Given the description of an element on the screen output the (x, y) to click on. 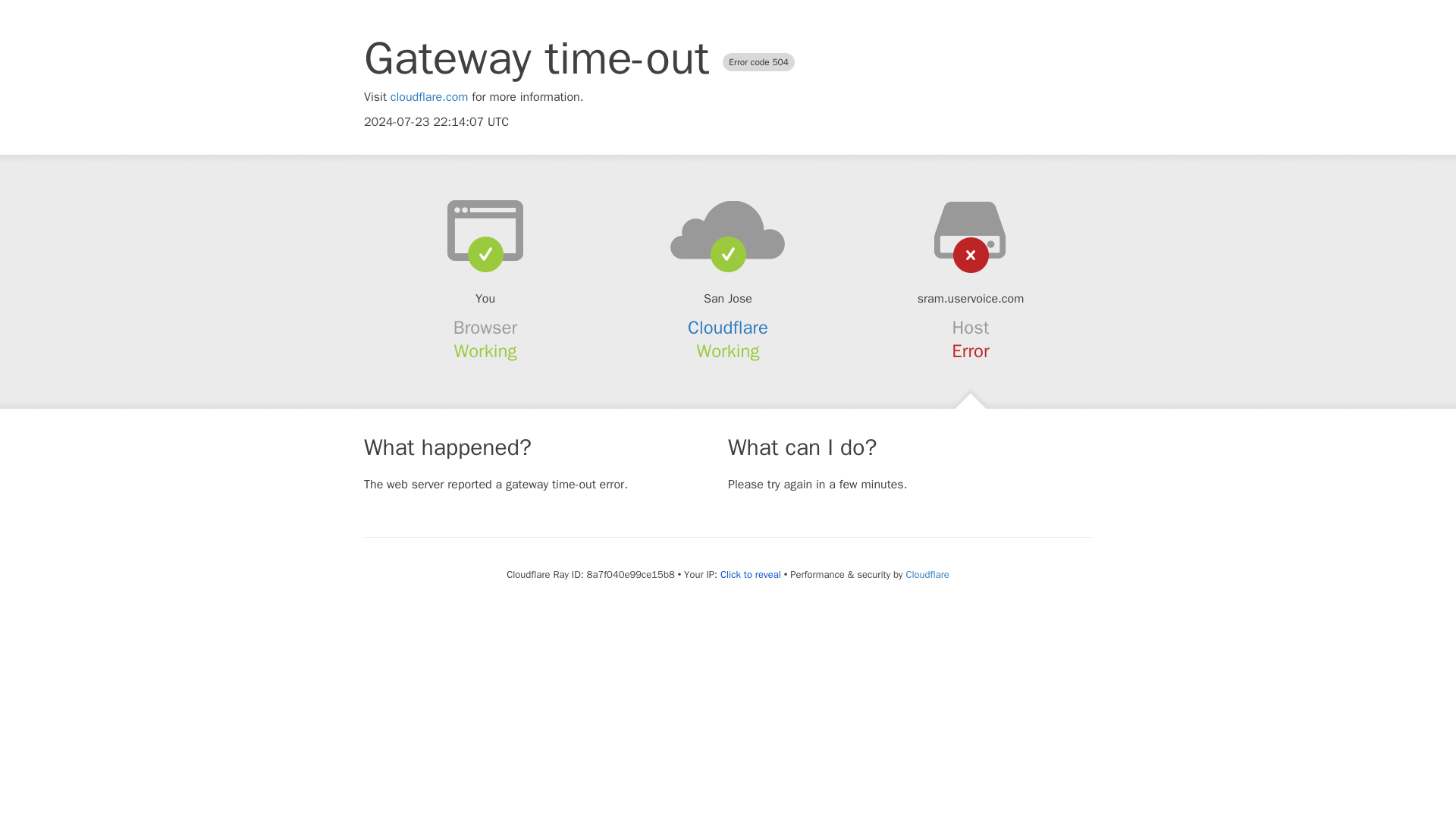
cloudflare.com (429, 96)
Cloudflare (727, 327)
Click to reveal (750, 574)
Cloudflare (927, 574)
